Given the description of an element on the screen output the (x, y) to click on. 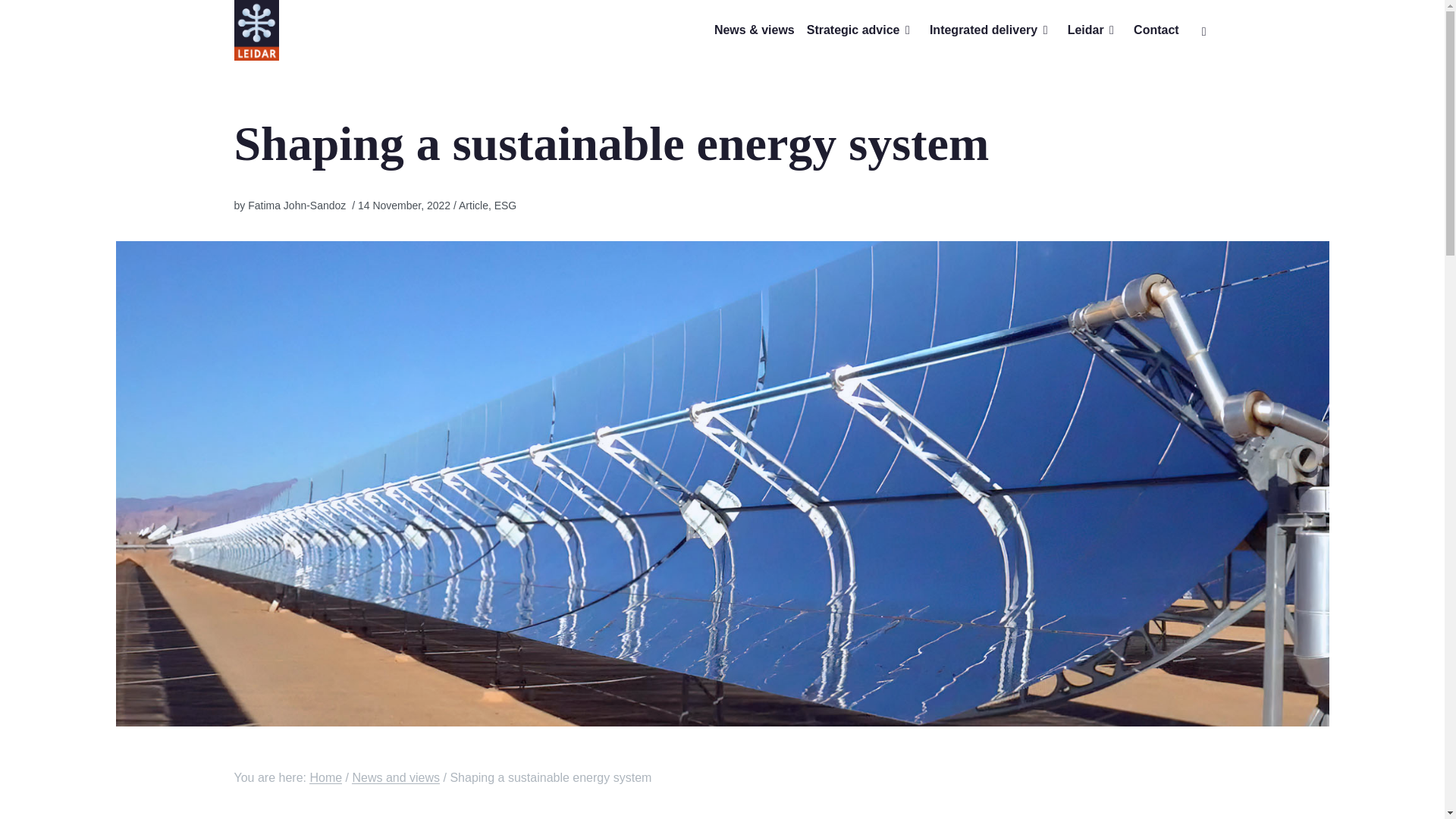
Integrated delivery (992, 30)
Home (325, 777)
Leidar (1093, 30)
Contact (1155, 30)
News and views (395, 777)
Strategic advice (861, 30)
Strategic advice (861, 30)
